Given the description of an element on the screen output the (x, y) to click on. 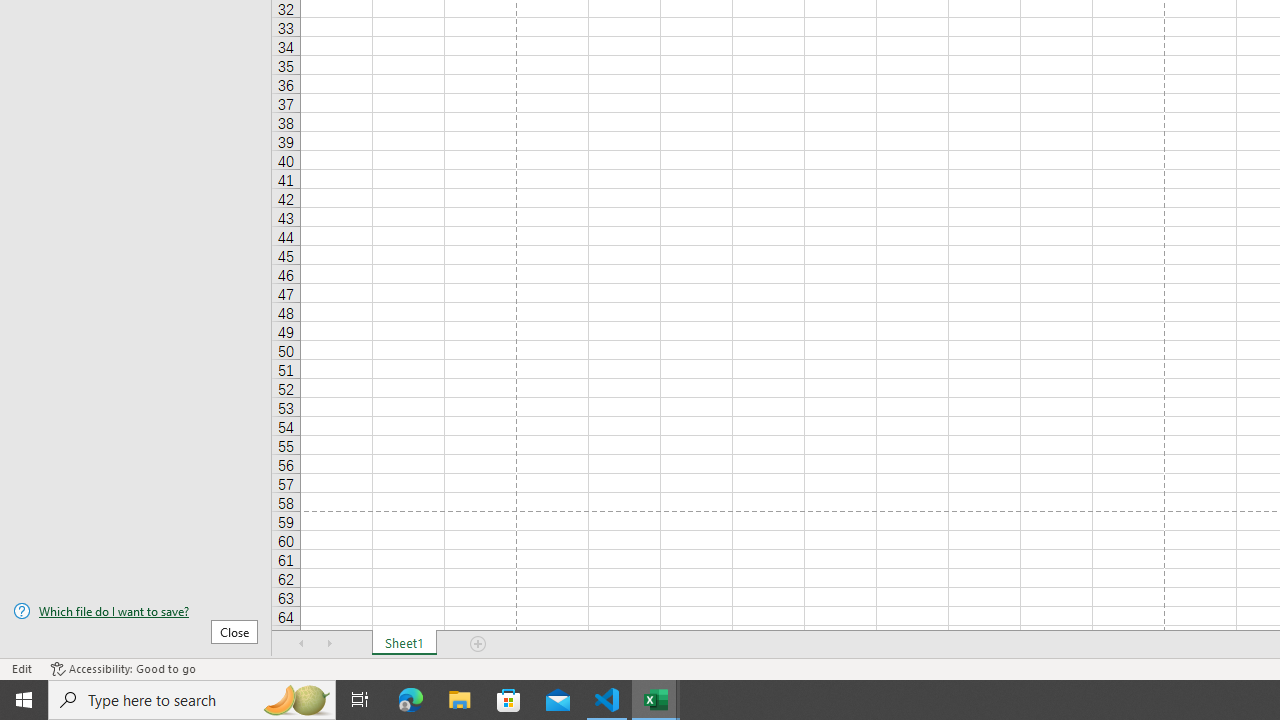
Start (24, 699)
Search highlights icon opens search home window (295, 699)
